Given the description of an element on the screen output the (x, y) to click on. 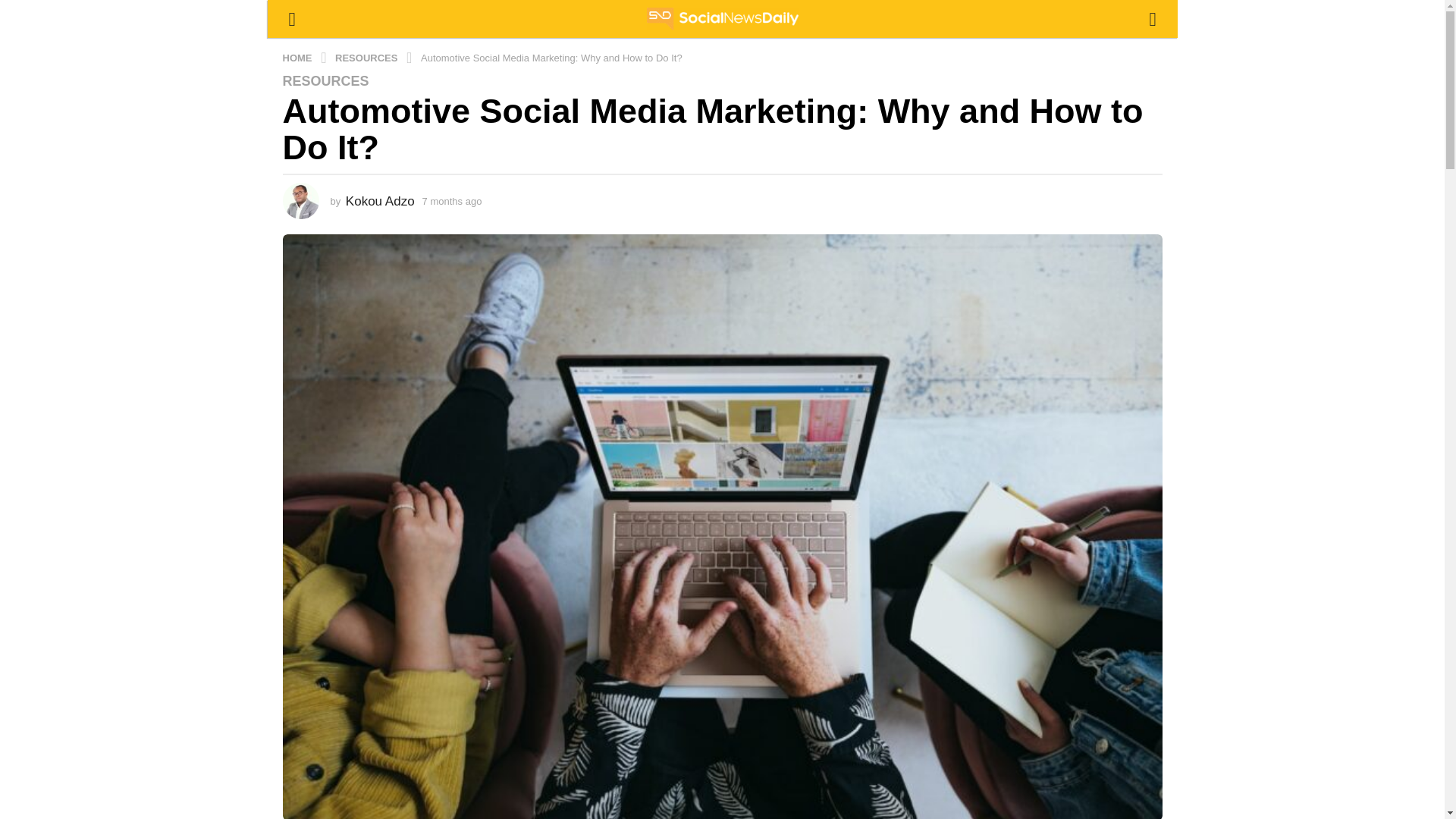
HOME (298, 57)
Kokou Adzo (380, 201)
RESOURCES (325, 80)
Automotive Social Media Marketing: Why and How to Do It? (551, 57)
RESOURCES (367, 57)
